Given the description of an element on the screen output the (x, y) to click on. 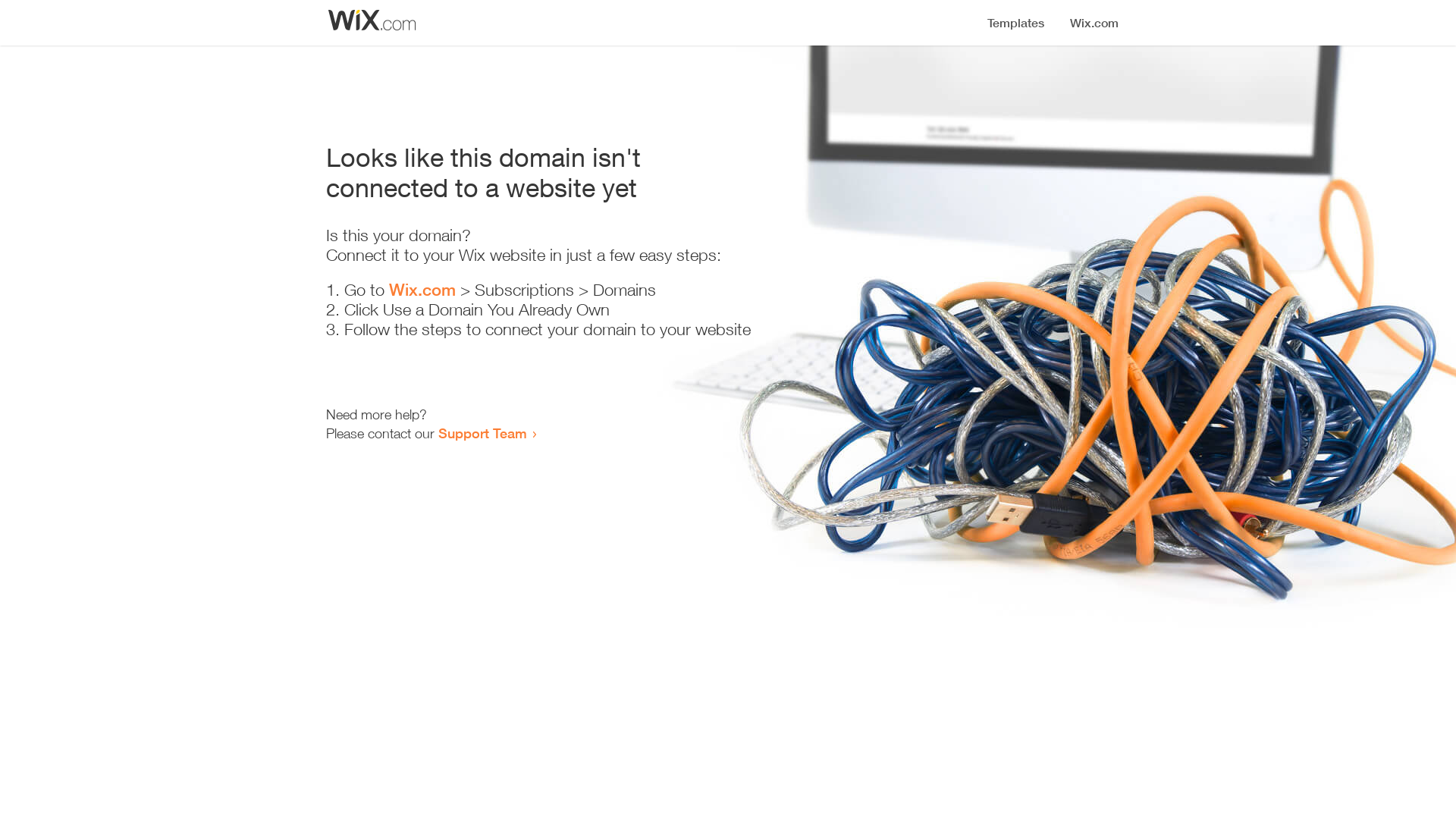
Wix.com Element type: text (422, 289)
Support Team Element type: text (482, 432)
